Given the description of an element on the screen output the (x, y) to click on. 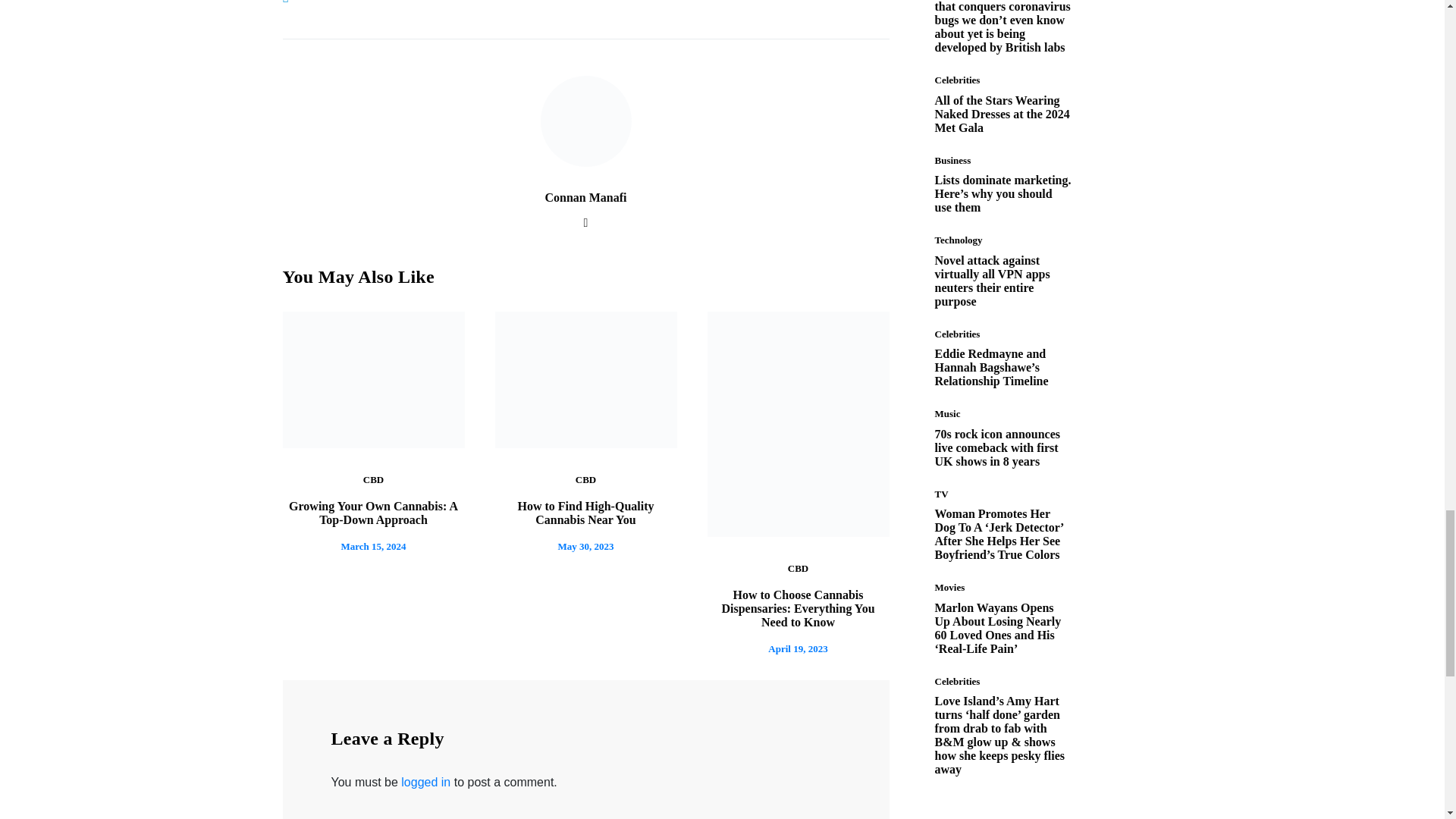
How to Find High-Quality Cannabis Near You 3 (586, 379)
Growing Your Own Cannabis: A Top-Down Approach 2 (373, 379)
